Given the description of an element on the screen output the (x, y) to click on. 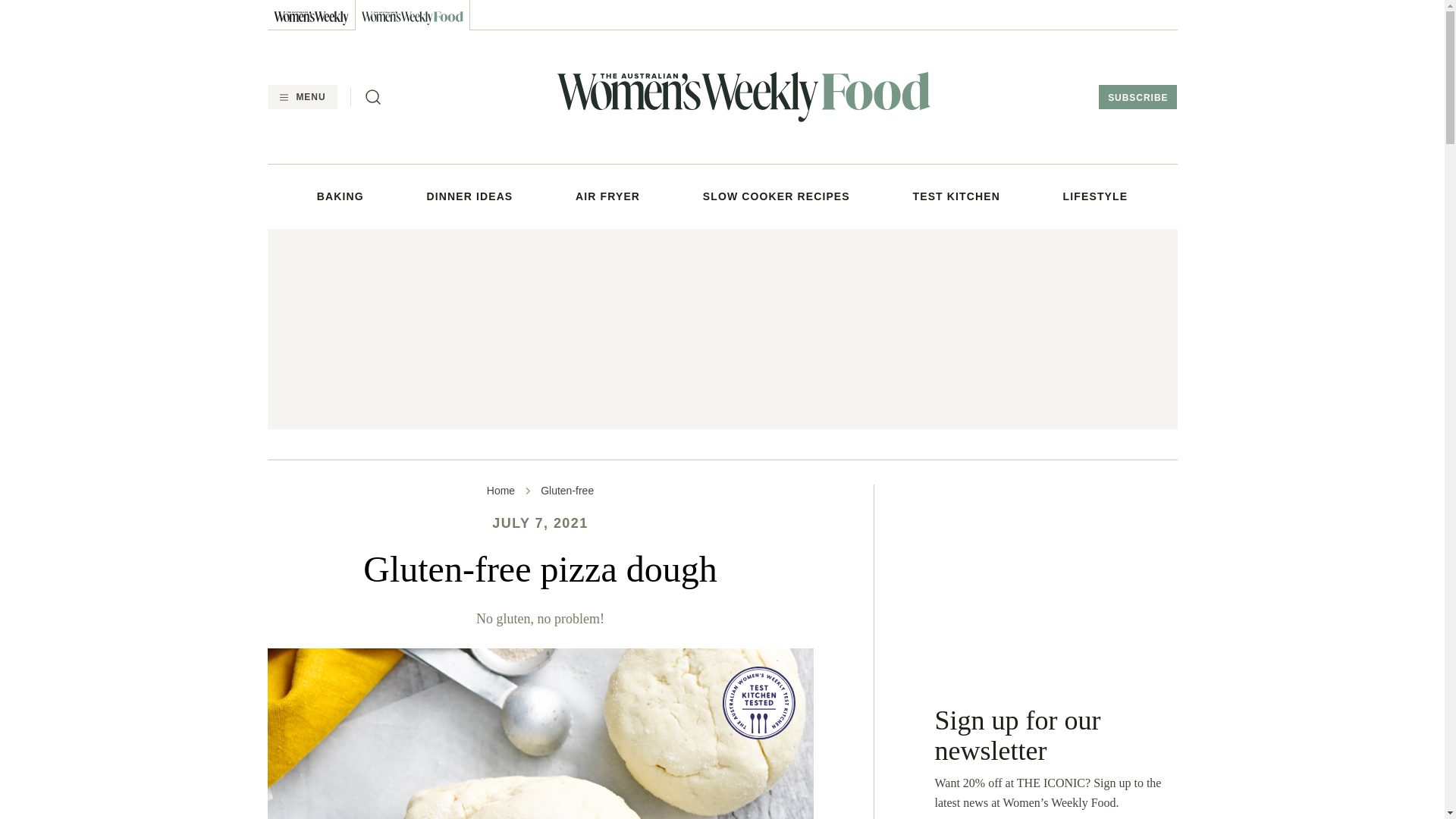
SUBSCRIBE (1137, 96)
LIFESTYLE (1095, 196)
SLOW COOKER RECIPES (776, 196)
AIR FRYER (607, 196)
DINNER IDEAS (469, 196)
MENU (301, 96)
TEST KITCHEN (956, 196)
BAKING (340, 196)
